Given the description of an element on the screen output the (x, y) to click on. 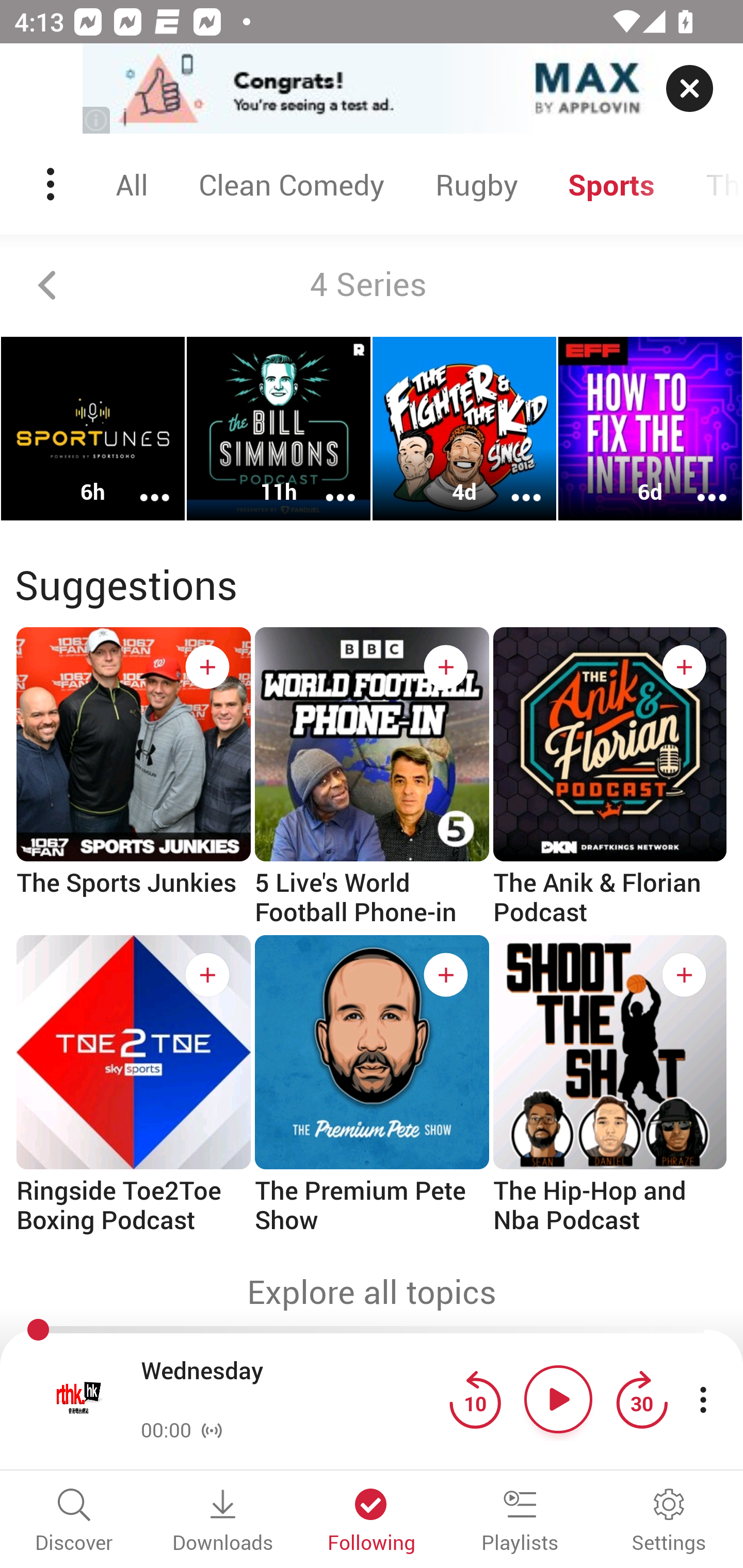
app-monetization (371, 88)
(i) (96, 119)
Menu (52, 184)
All (131, 184)
Clean Comedy (291, 184)
Rugby (476, 184)
Sports (611, 184)
4 Series (371, 285)
Sportunes HK 6h More options More options (92, 428)
The Fighter & The Kid 4d More options More options (464, 428)
More options (141, 484)
More options (326, 484)
More options (512, 484)
More options (698, 484)
Subscribe button (207, 666)
Subscribe button (446, 666)
Subscribe button (684, 666)
Subscribe button (207, 974)
Subscribe button (446, 974)
Subscribe button (684, 974)
Explore all topics (371, 1291)
Open fullscreen player (79, 1399)
More player controls (703, 1399)
Wednesday (290, 1385)
Play button (558, 1398)
Jump back (475, 1399)
Jump forward (641, 1399)
Discover (74, 1521)
Downloads (222, 1521)
Following (371, 1521)
Playlists (519, 1521)
Settings (668, 1521)
